Given the description of an element on the screen output the (x, y) to click on. 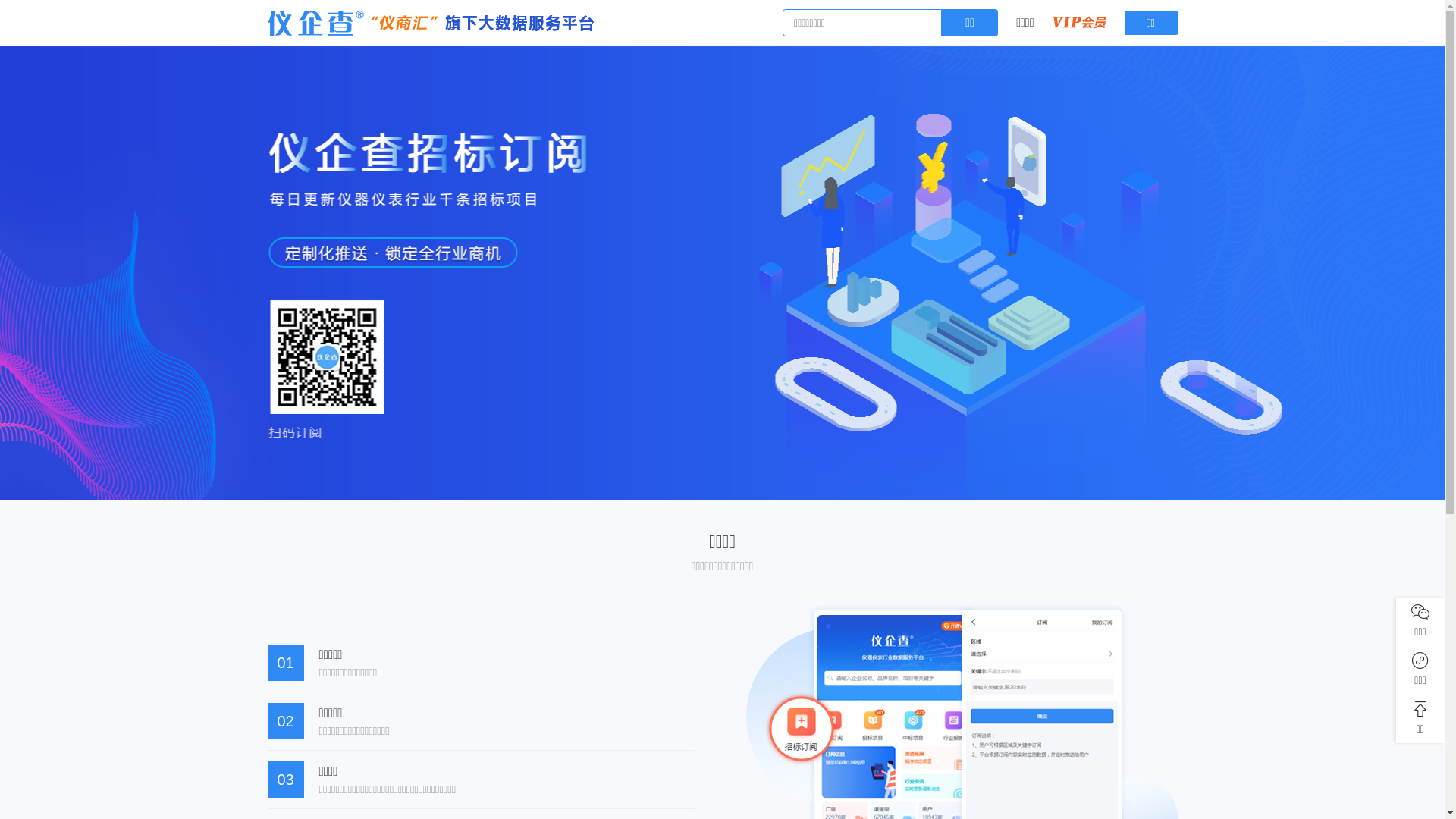
0 Element type: text (1079, 23)
